Given the description of an element on the screen output the (x, y) to click on. 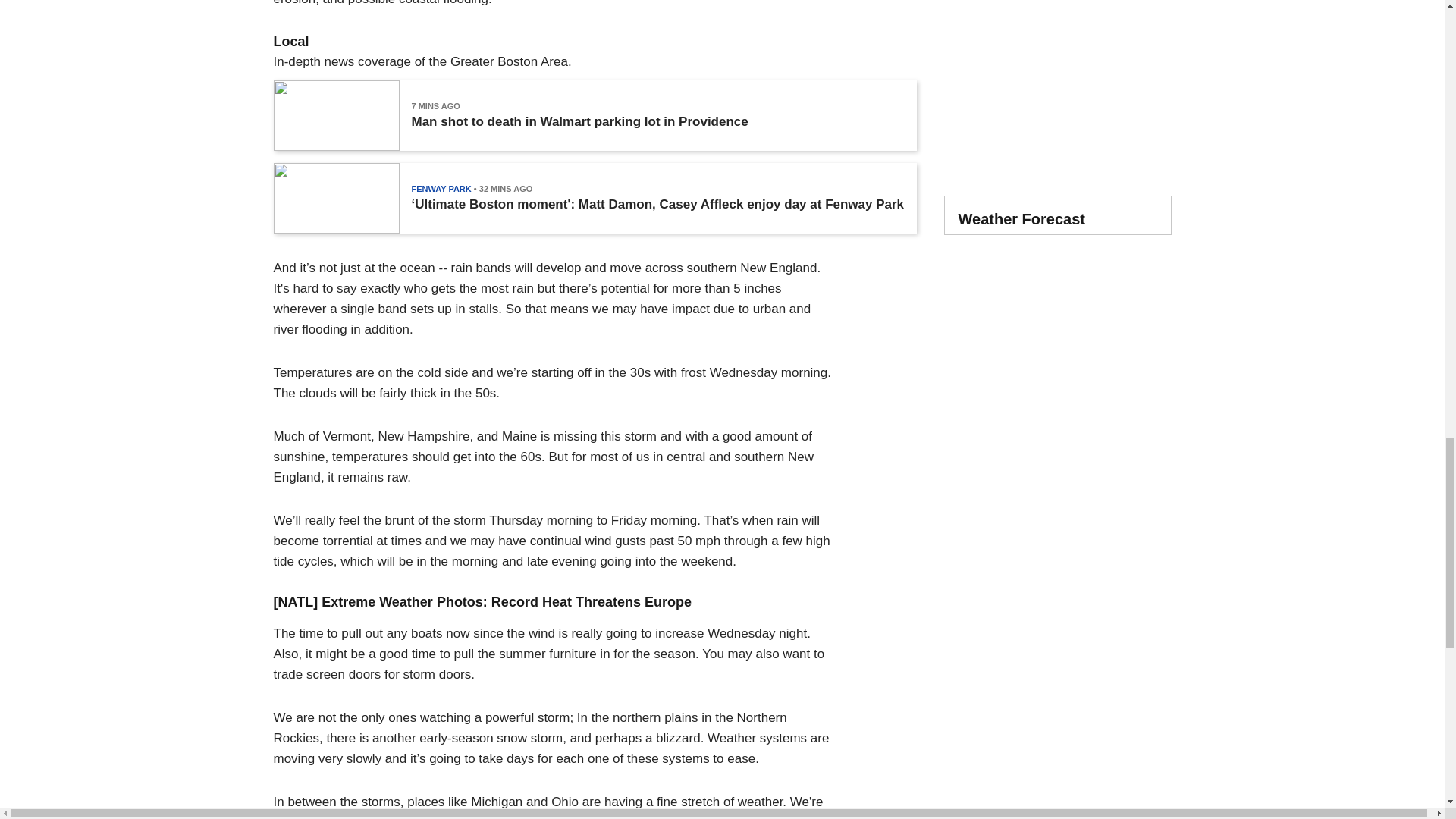
Man shot to death in Walmart parking lot in Providence (579, 121)
FENWAY PARK (440, 188)
